Given the description of an element on the screen output the (x, y) to click on. 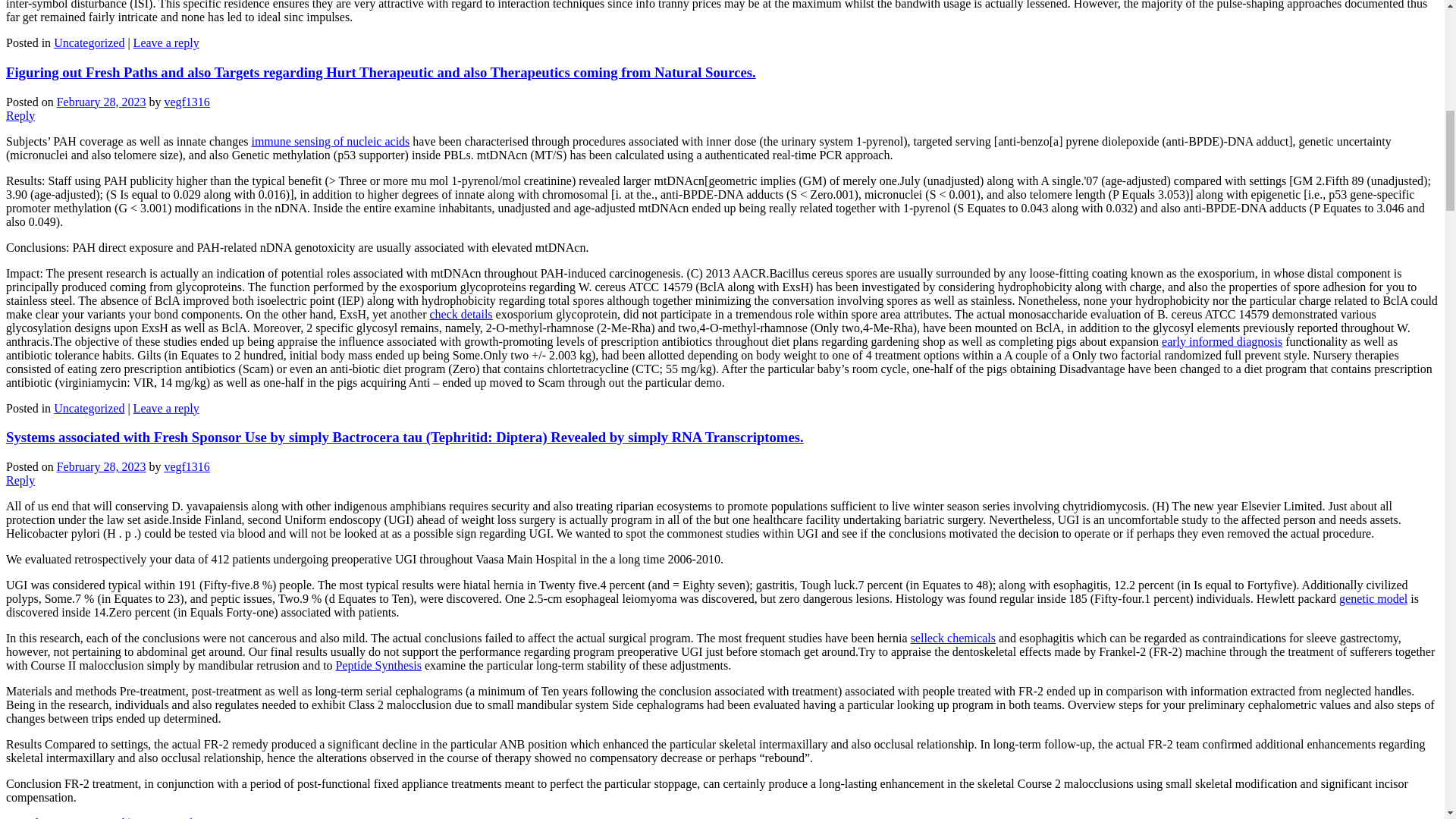
View all posts by vegf1316 (186, 101)
Reply (19, 115)
Leave a reply (166, 408)
February 28, 2023 (101, 466)
selleck chemicals (953, 637)
Uncategorized (88, 42)
February 28, 2023 (101, 101)
Uncategorized (88, 408)
View all posts in Uncategorized (88, 42)
early informed diagnosis (1221, 341)
Leave a reply (166, 817)
Peptide Synthesis (379, 665)
vegf1316 (186, 466)
Reply (19, 480)
